Given the description of an element on the screen output the (x, y) to click on. 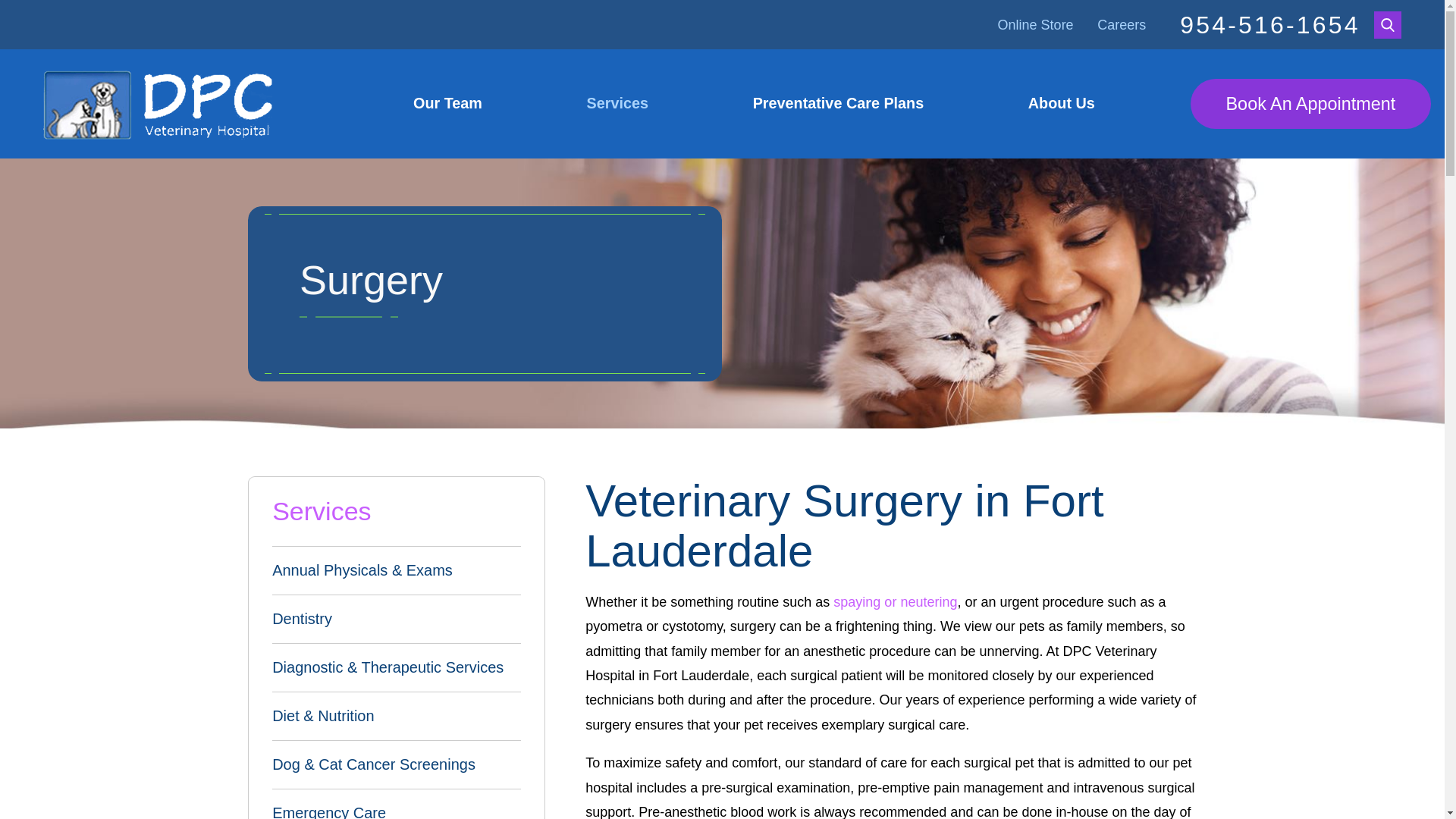
About Us (1061, 103)
Preventative Care Plans (837, 103)
Services (617, 103)
Our Team (447, 103)
Book An Appointment (1311, 103)
Careers (1121, 23)
DPC Veterinary Hospital (159, 103)
Search Icon (1387, 24)
Online Store (1035, 23)
954-516-1654 (1269, 24)
Search Our Site (1387, 24)
